Given the description of an element on the screen output the (x, y) to click on. 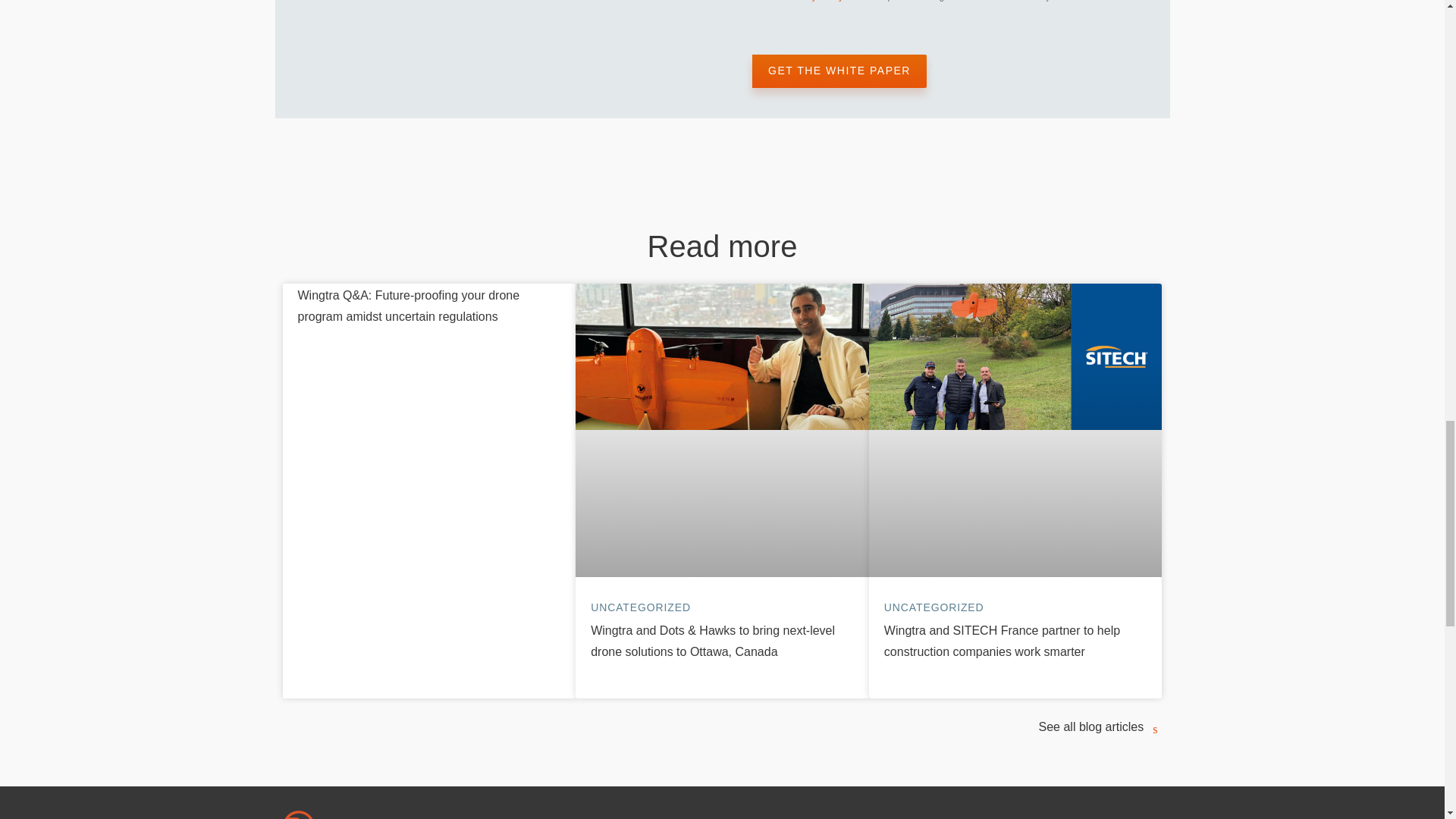
Privacy Policy. (815, 0)
Get the white paper (839, 70)
wingtralogoshort2x.png (298, 814)
